Given the description of an element on the screen output the (x, y) to click on. 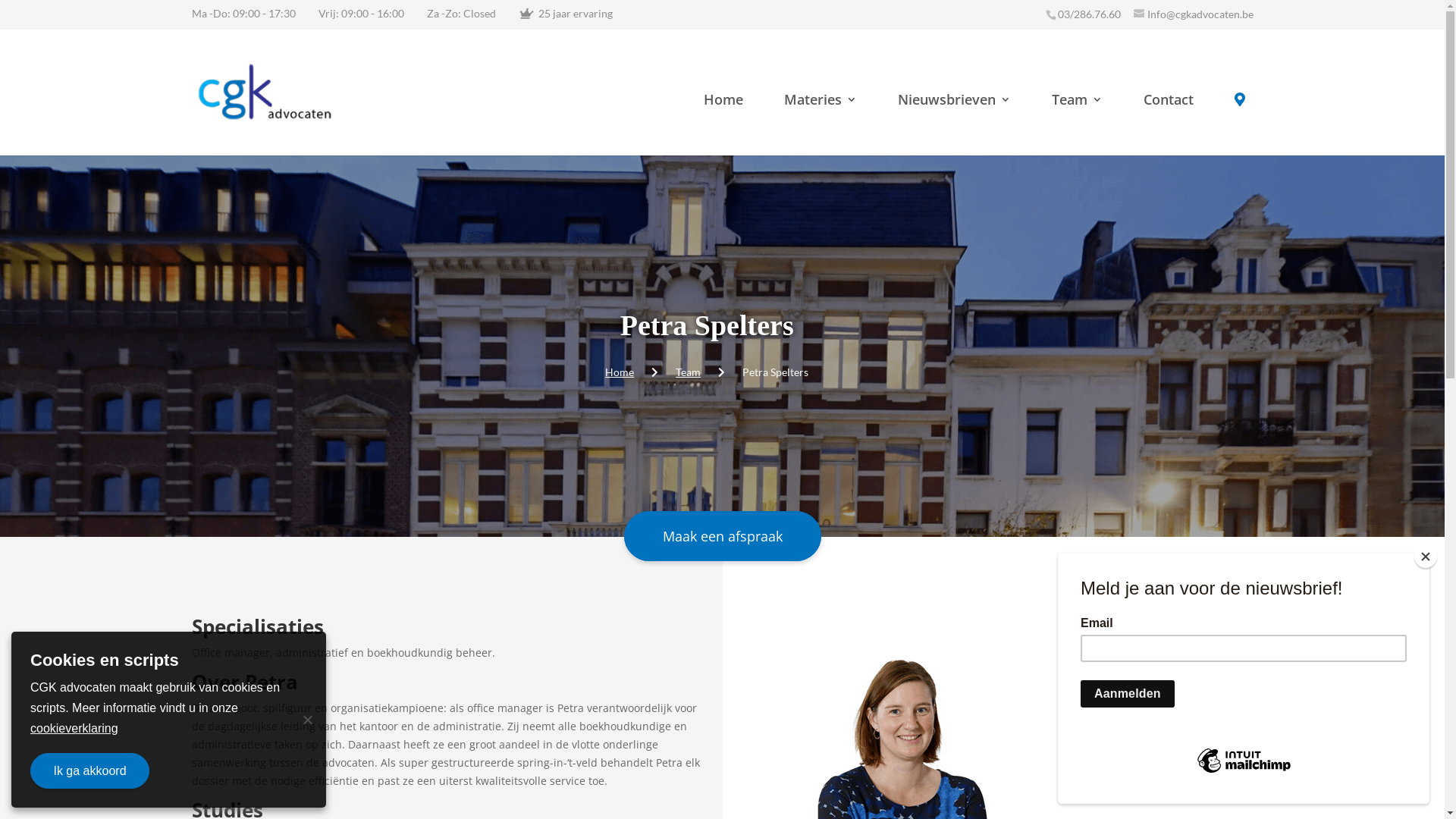
Nee Element type: hover (306, 719)
Team Element type: text (687, 371)
Maak een afspraak Element type: text (721, 536)
Home Element type: text (619, 371)
Materies Element type: text (820, 118)
cookieverklaring Element type: text (74, 727)
Ik ga akkoord Element type: text (89, 770)
Team Element type: text (1076, 118)
Home Element type: text (723, 118)
Nieuwsbrieven Element type: text (953, 118)
Contact Element type: text (1168, 118)
Info@cgkadvocaten.be Element type: text (1192, 13)
03/286.76.60 Element type: text (1088, 13)
